Given the description of an element on the screen output the (x, y) to click on. 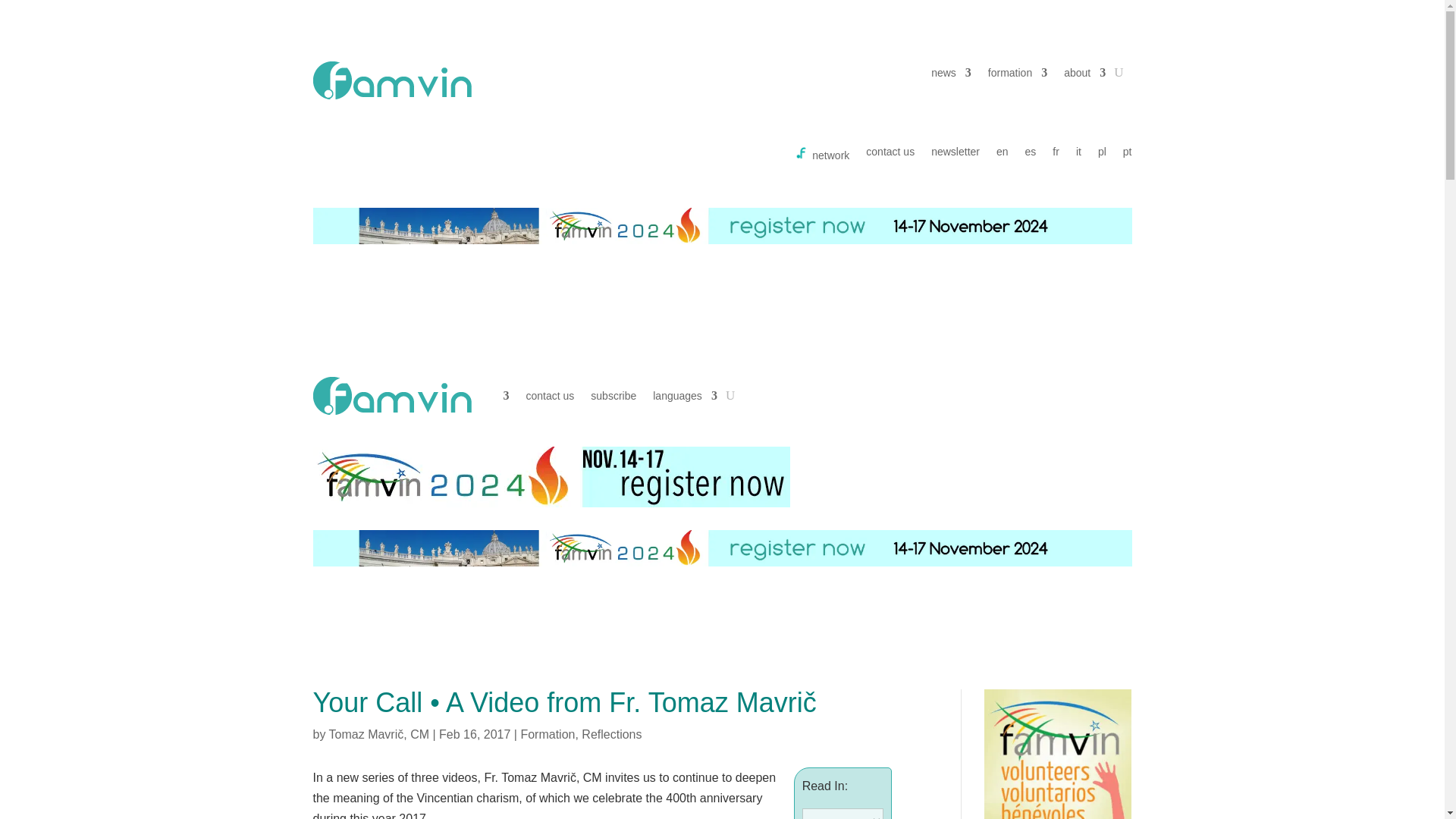
Registration-Information-Famvin-2024-1 (722, 547)
contact us (890, 156)
network (821, 156)
formation (1017, 75)
Registration-Information-Famvin-2024-1 (722, 226)
about (1084, 75)
famvin 2024 banner mobile 2 (551, 476)
newsletter (955, 156)
dot-famvin-35afaa-50px (391, 80)
news (951, 75)
